Given the description of an element on the screen output the (x, y) to click on. 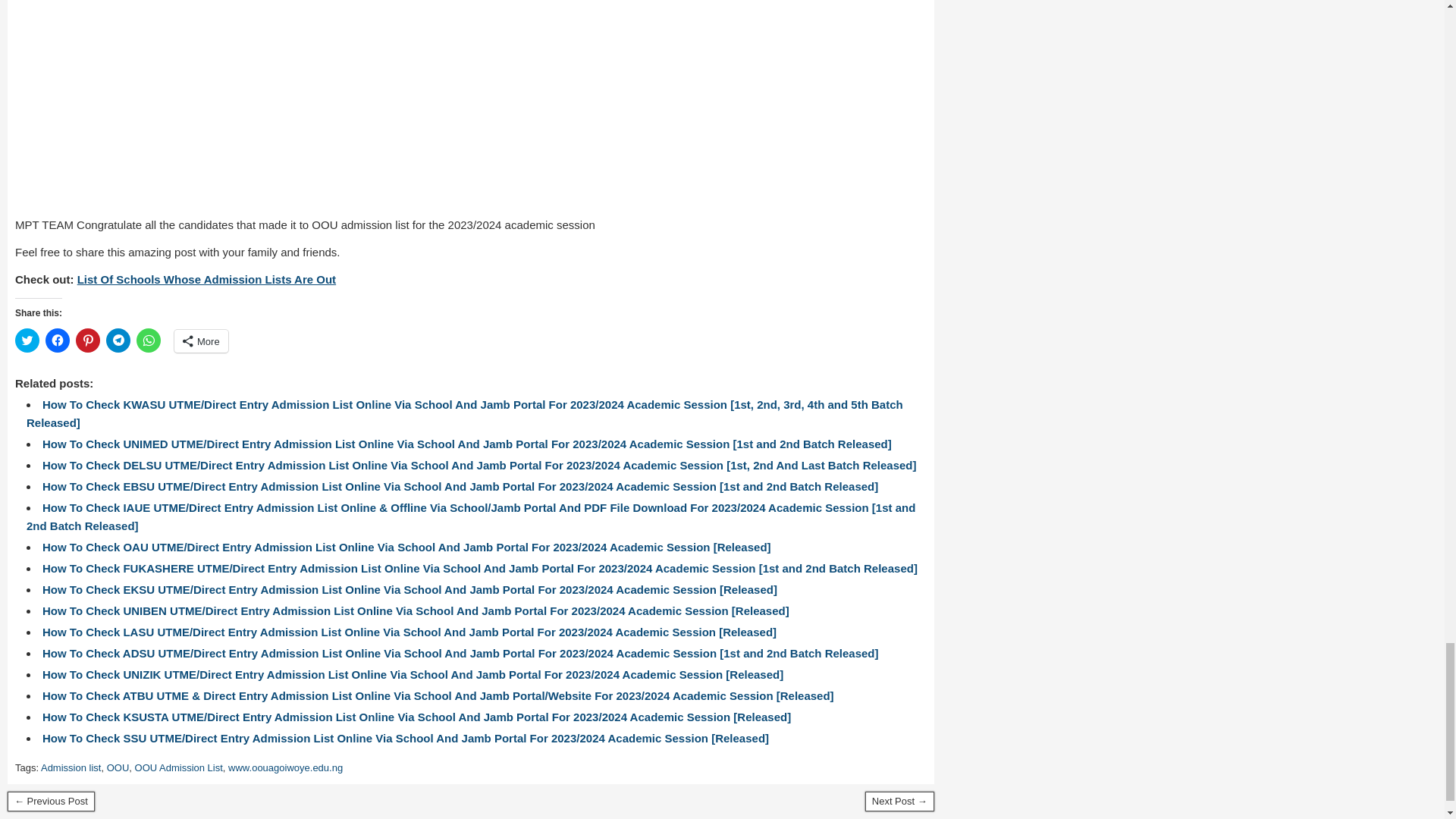
Click to share on Pinterest (87, 340)
Click to share on WhatsApp (148, 340)
Click to share on Twitter (26, 340)
Click to share on Telegram (118, 340)
Click to share on Facebook (57, 340)
